Given the description of an element on the screen output the (x, y) to click on. 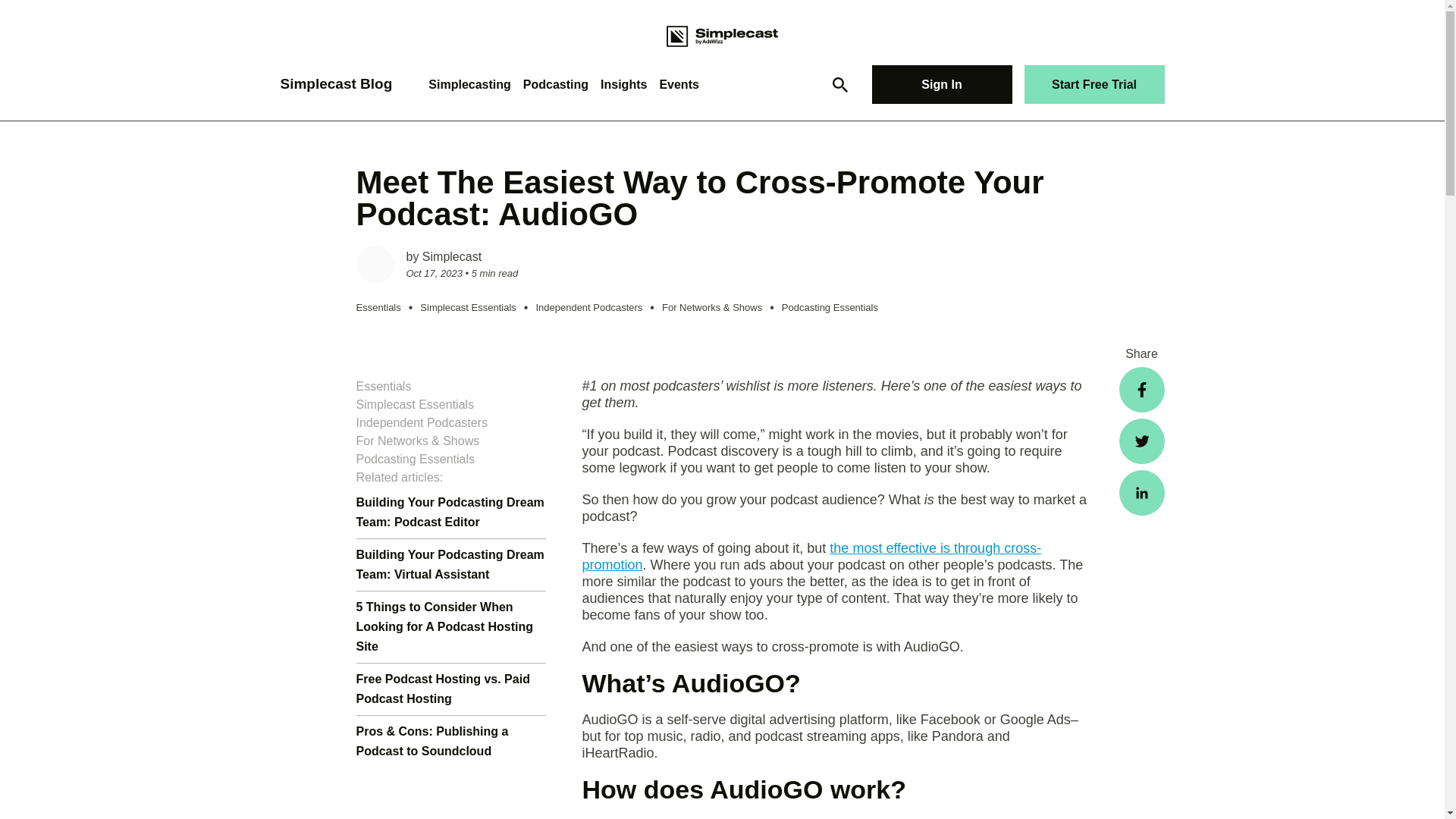
Podcasting (555, 83)
Essentials (378, 307)
Events (678, 83)
Simplecast (451, 256)
Simplecasting (469, 83)
Start Free Trial (1093, 84)
Building Your Podcasting Dream Team: Podcast Editor (450, 512)
Simplecast Blog (337, 83)
Podcasting Essentials (829, 307)
Simplecast Essentials (467, 307)
